Given the description of an element on the screen output the (x, y) to click on. 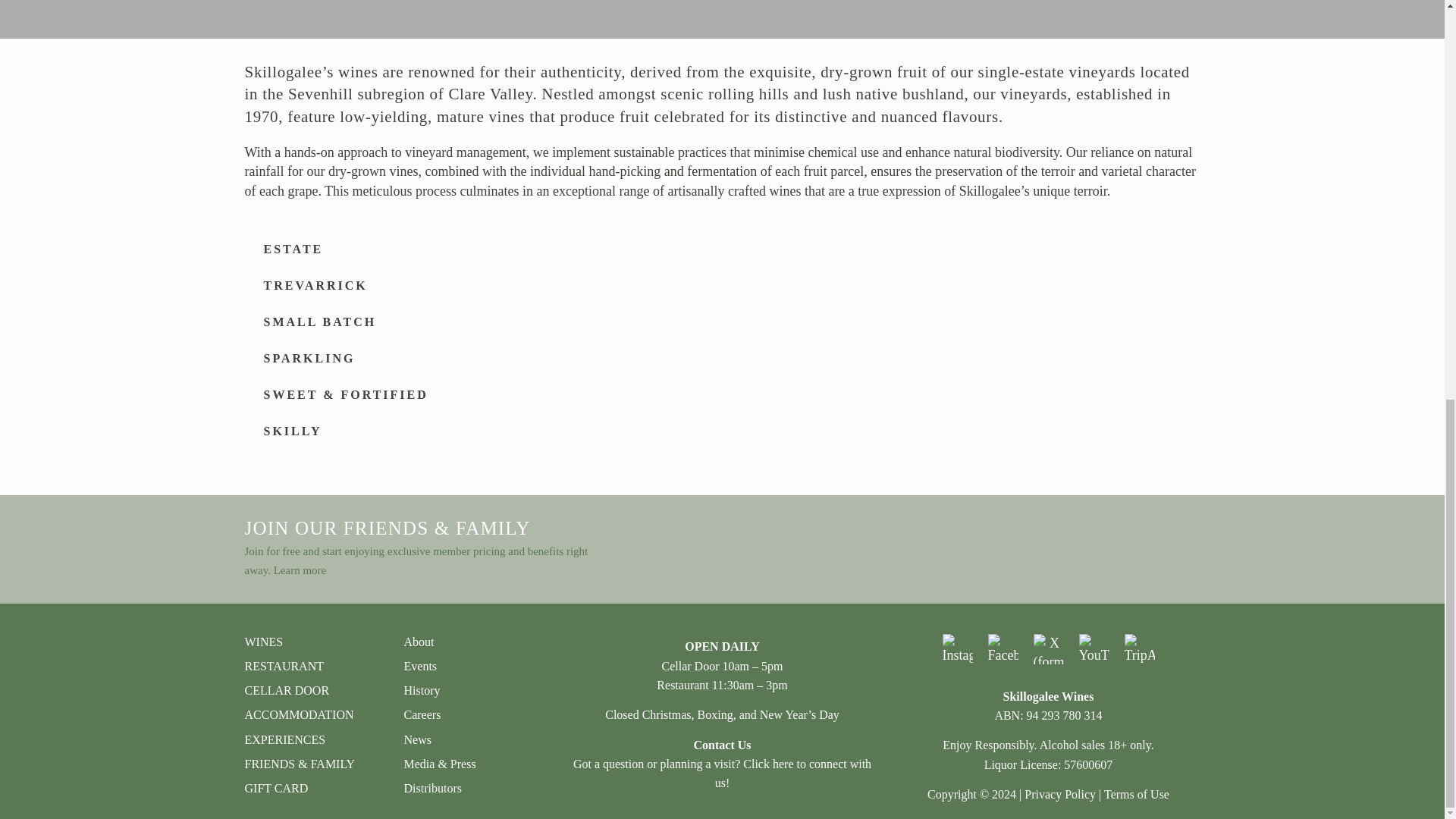
Facebook (1002, 648)
Learn more (299, 570)
WINES (316, 641)
YouTube (1093, 648)
RESTAURANT (316, 665)
Instagram (957, 648)
EXPERIENCES (316, 739)
TripAdvisor (1139, 648)
CELLAR DOOR (316, 690)
ACCOMMODATION (316, 714)
